Given the description of an element on the screen output the (x, y) to click on. 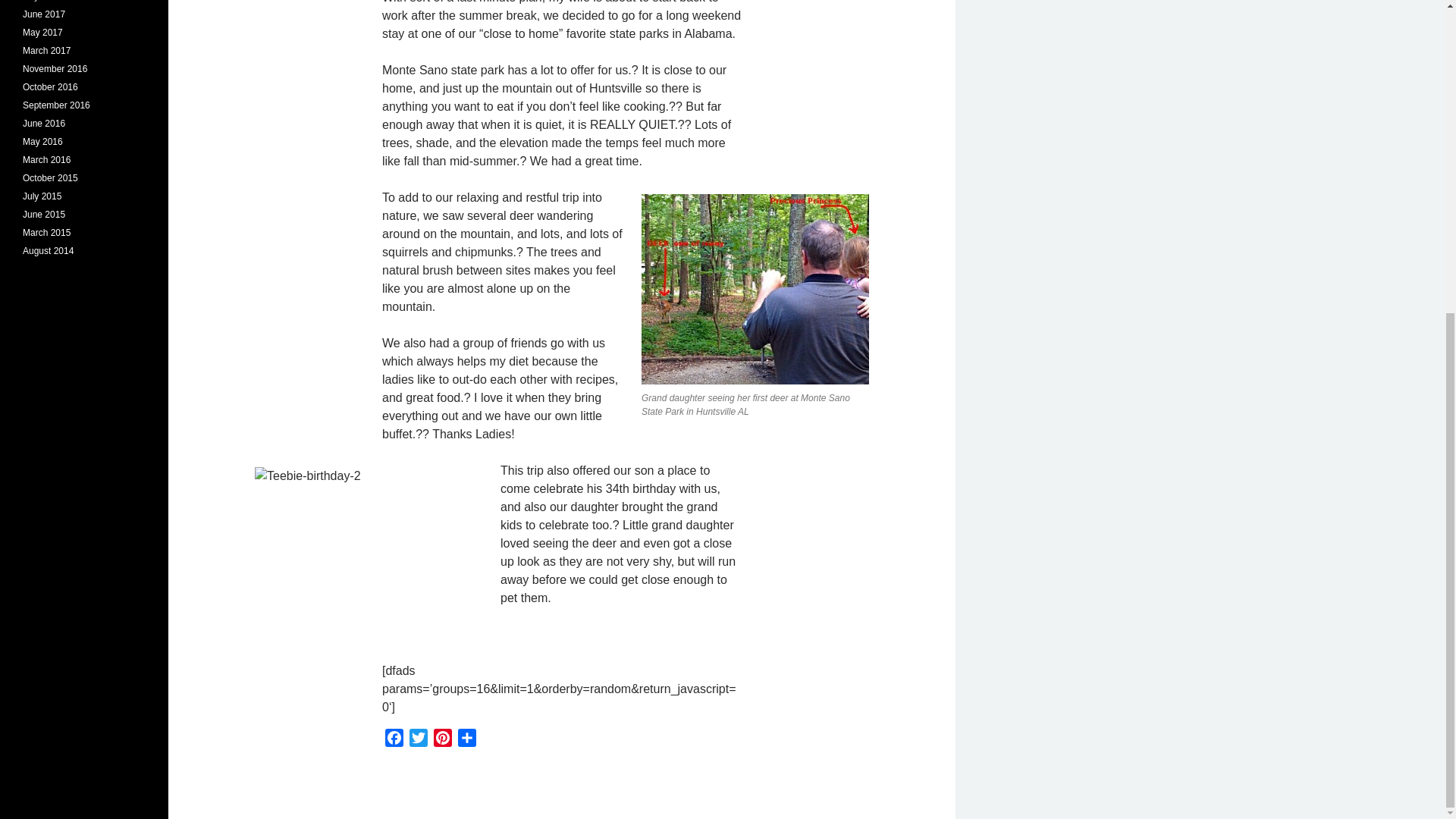
Twitter (418, 740)
Pinterest (442, 740)
Facebook (393, 740)
Share (466, 740)
Pinterest (442, 740)
Facebook (393, 740)
Twitter (418, 740)
